Given the description of an element on the screen output the (x, y) to click on. 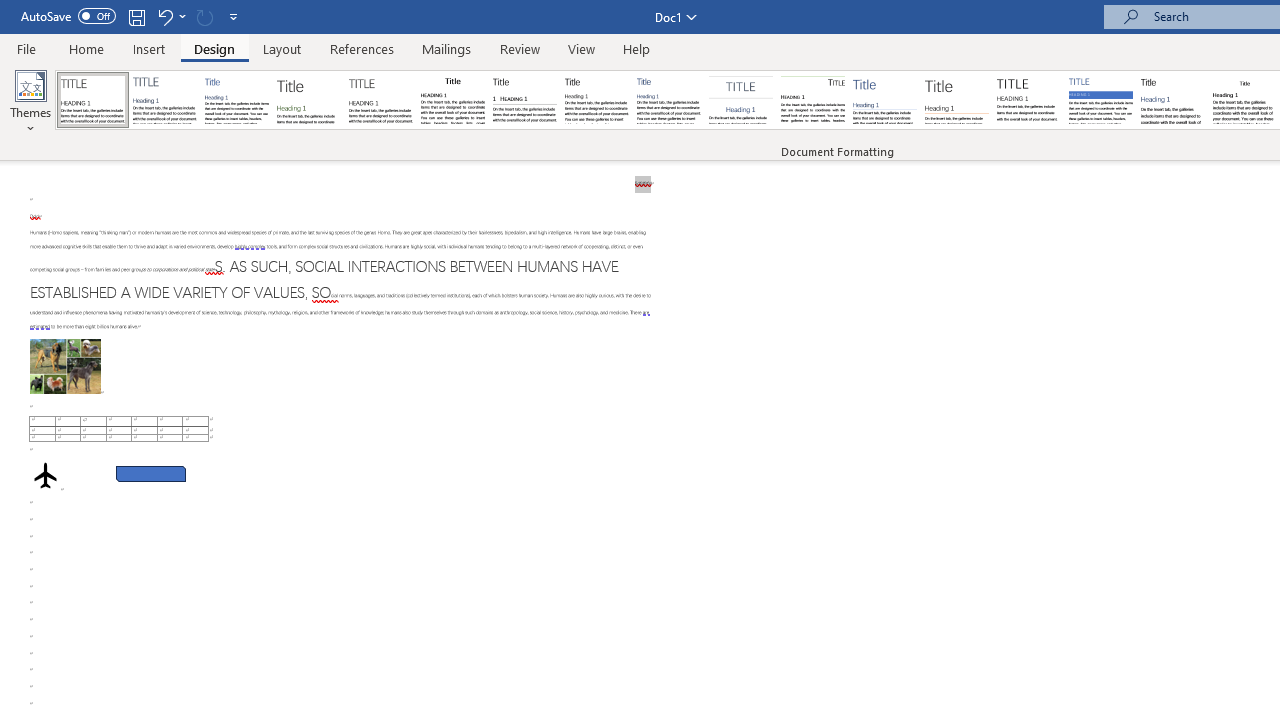
Black & White (Classic) (452, 100)
Minimalist (1028, 100)
Centered (740, 100)
Black & White (Capitalized) (381, 100)
Themes (30, 102)
Black & White (Numbered) (524, 100)
Document (93, 100)
